Given the description of an element on the screen output the (x, y) to click on. 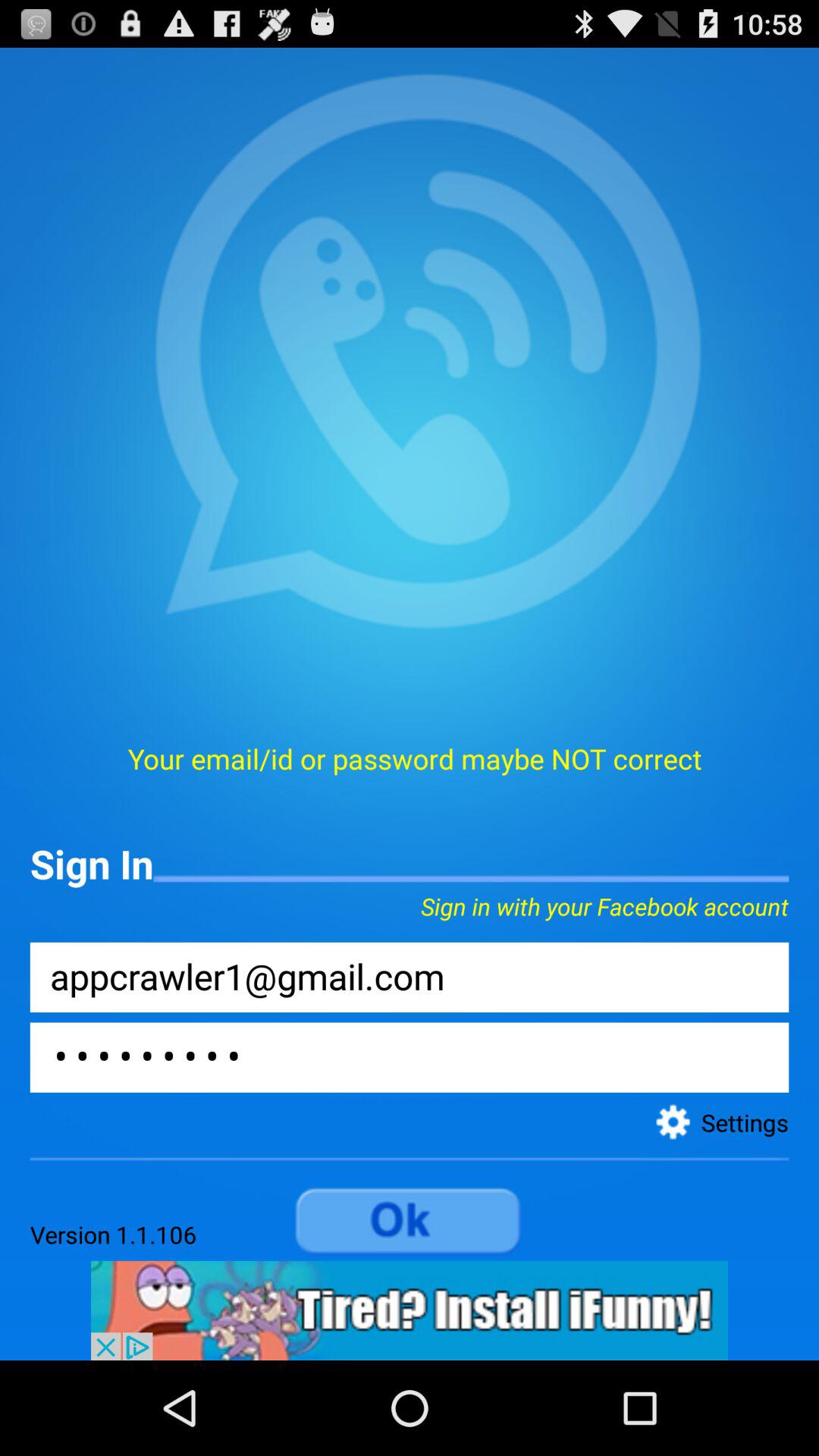
email address space (409, 977)
